Given the description of an element on the screen output the (x, y) to click on. 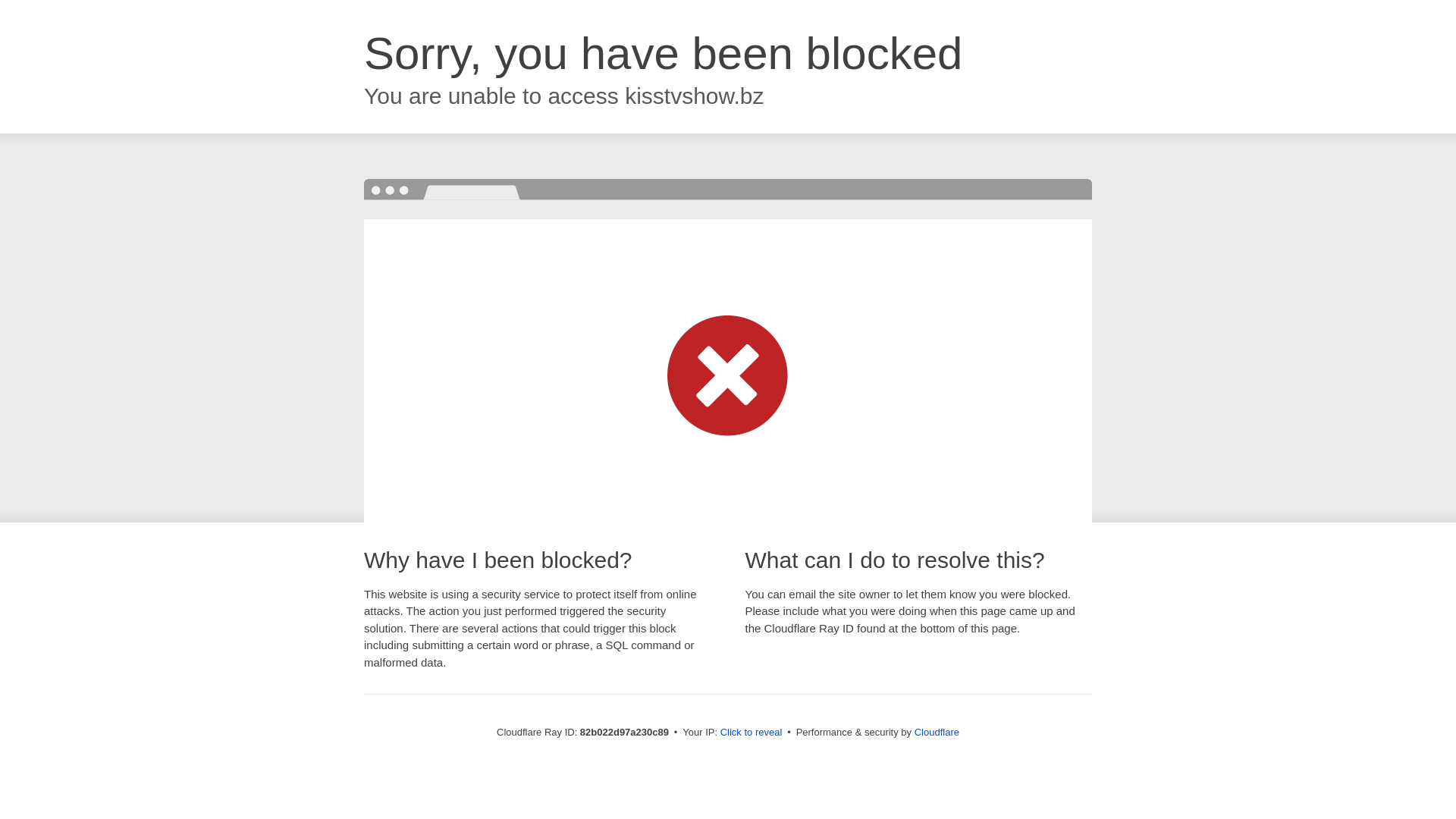
Click to reveal Element type: text (751, 732)
Cloudflare Element type: text (936, 731)
